Given the description of an element on the screen output the (x, y) to click on. 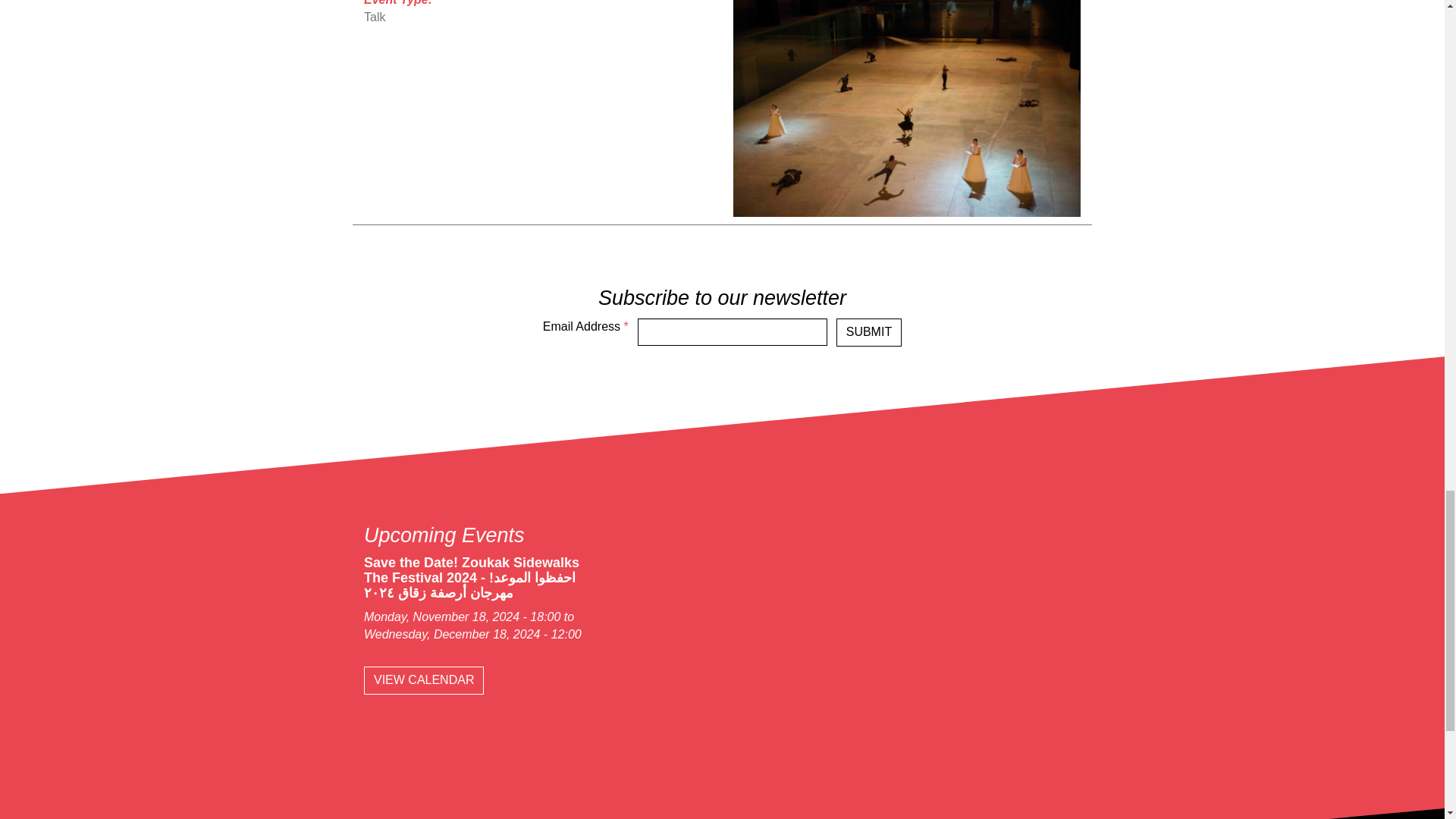
VIEW CALENDAR (423, 680)
SUBMIT (868, 332)
Zoukak Monthly Event calendar (423, 680)
